Given the description of an element on the screen output the (x, y) to click on. 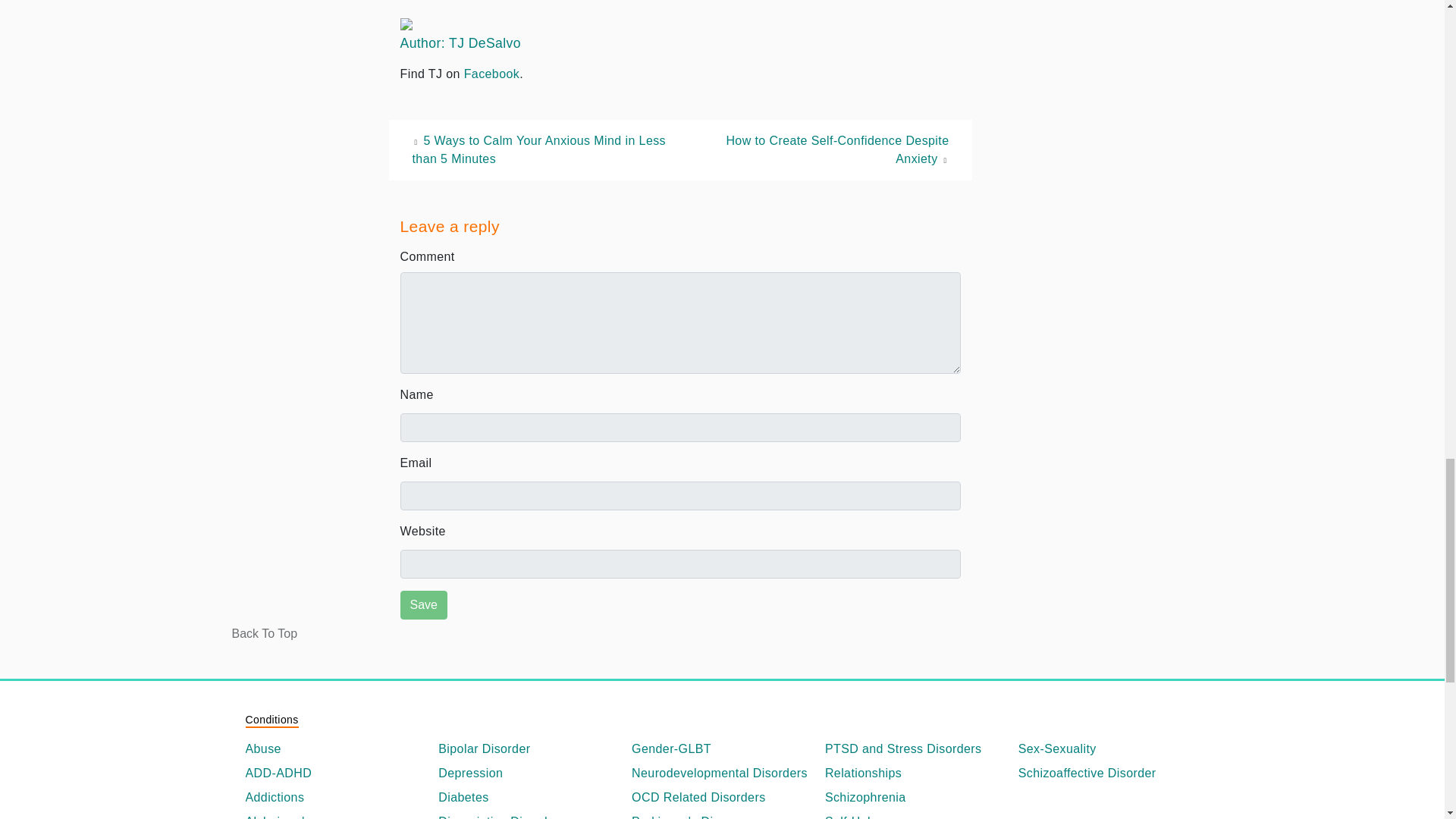
Parkinson's Disease Information Articles (721, 816)
